Given the description of an element on the screen output the (x, y) to click on. 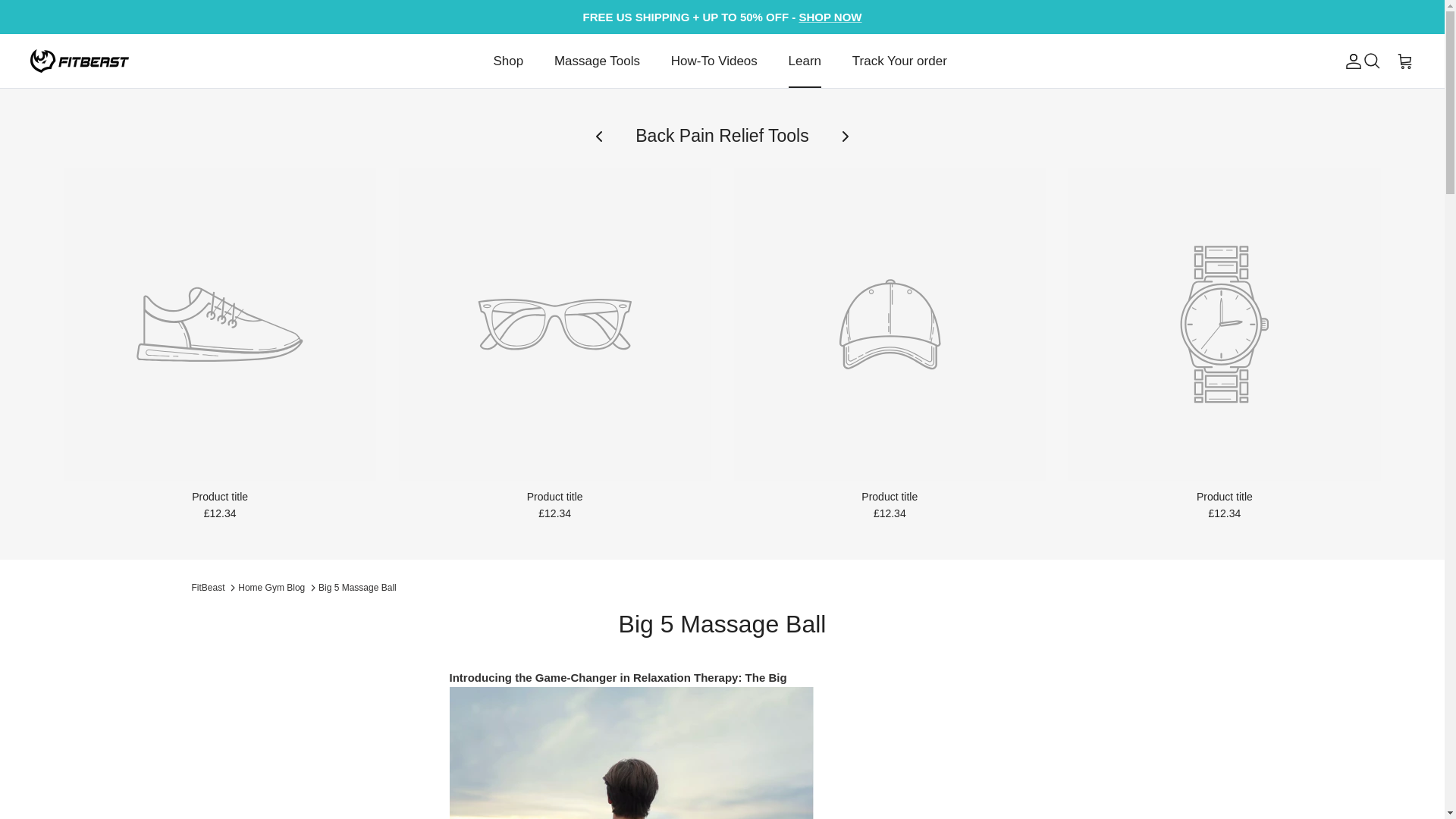
Learn (804, 61)
Shop (508, 61)
Massage Tools (596, 61)
SHOP NOW (829, 16)
FitBeast (79, 60)
How-To Videos (714, 61)
Track Your order (899, 61)
Search (1371, 61)
The Biggest Discount  of The Year (829, 16)
